Given the description of an element on the screen output the (x, y) to click on. 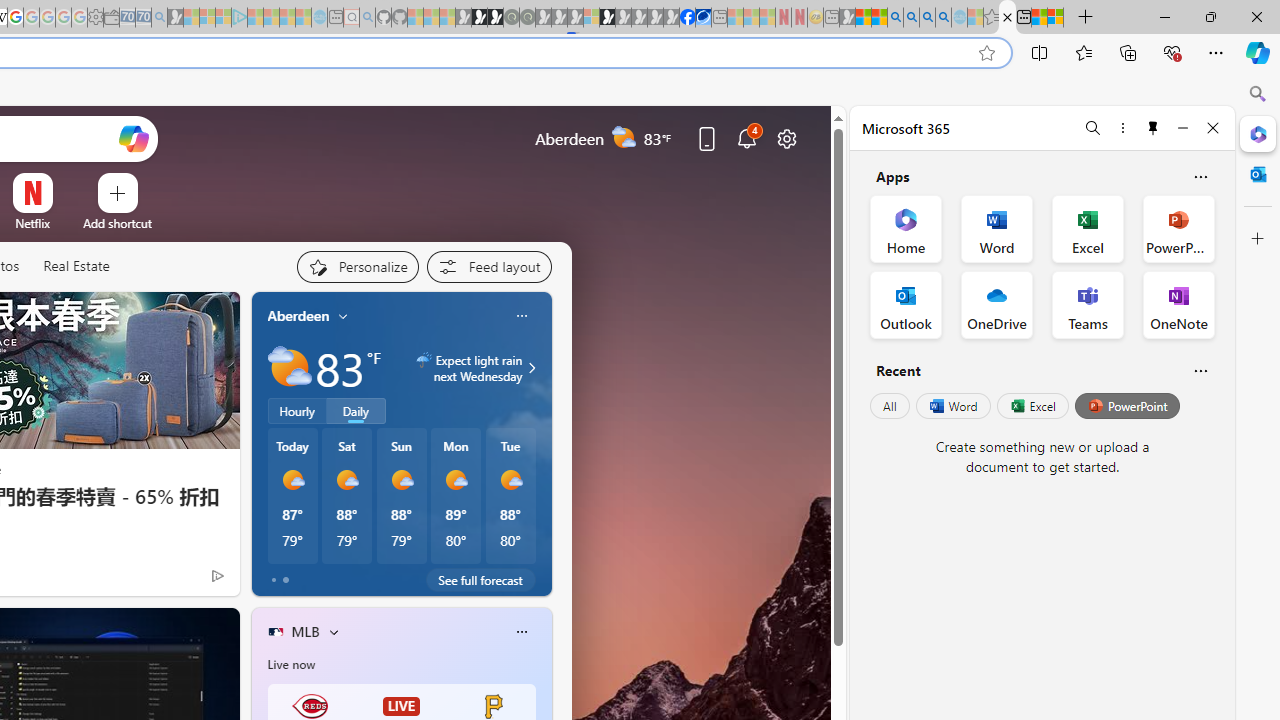
Is this helpful? (1200, 370)
Page settings (786, 138)
Aberdeen (298, 315)
Future Focus Report 2024 - Sleeping (527, 17)
